Given the description of an element on the screen output the (x, y) to click on. 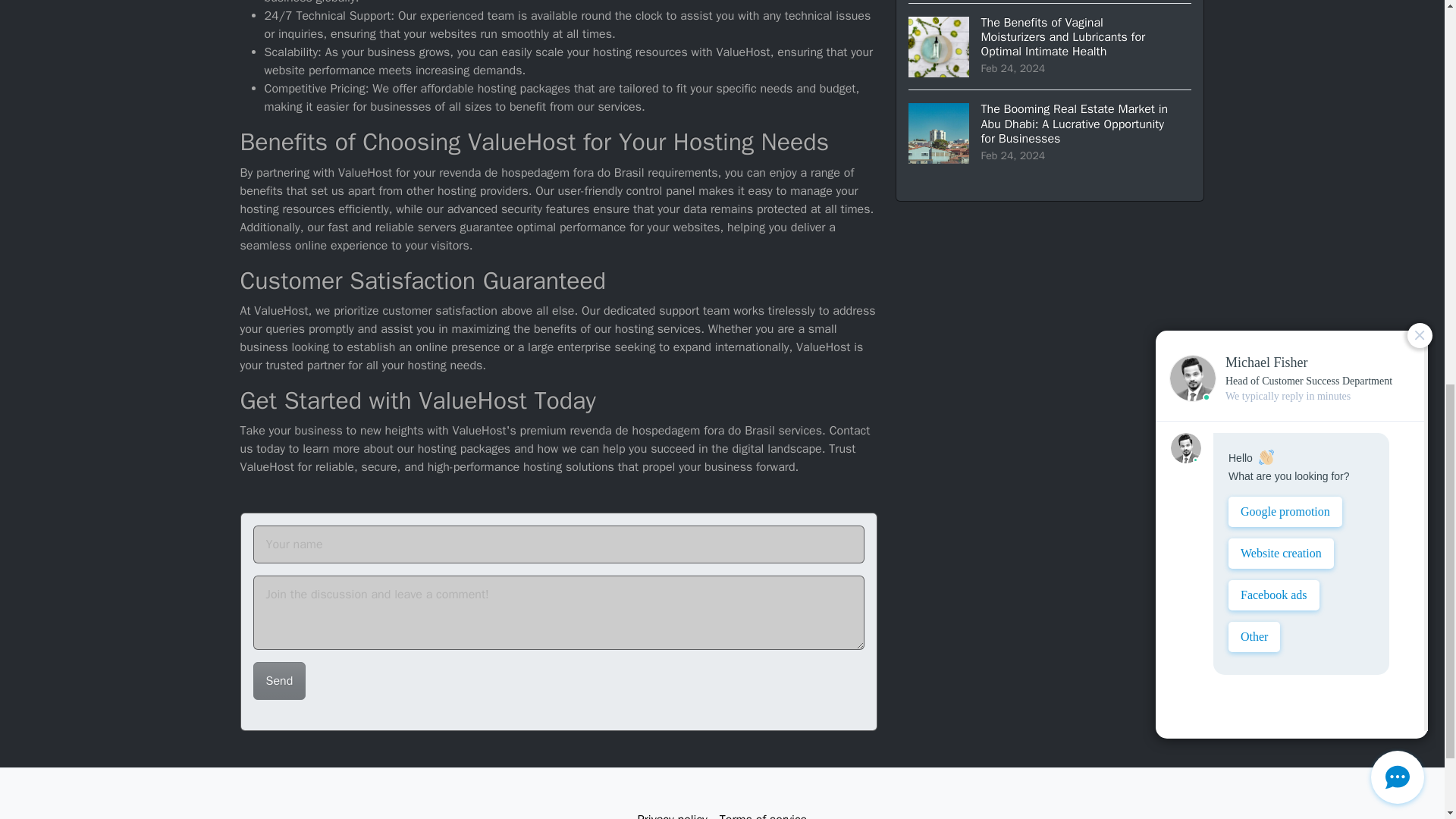
Send (279, 680)
Privacy policy (672, 811)
Terms of service (762, 811)
Send (279, 680)
